Given the description of an element on the screen output the (x, y) to click on. 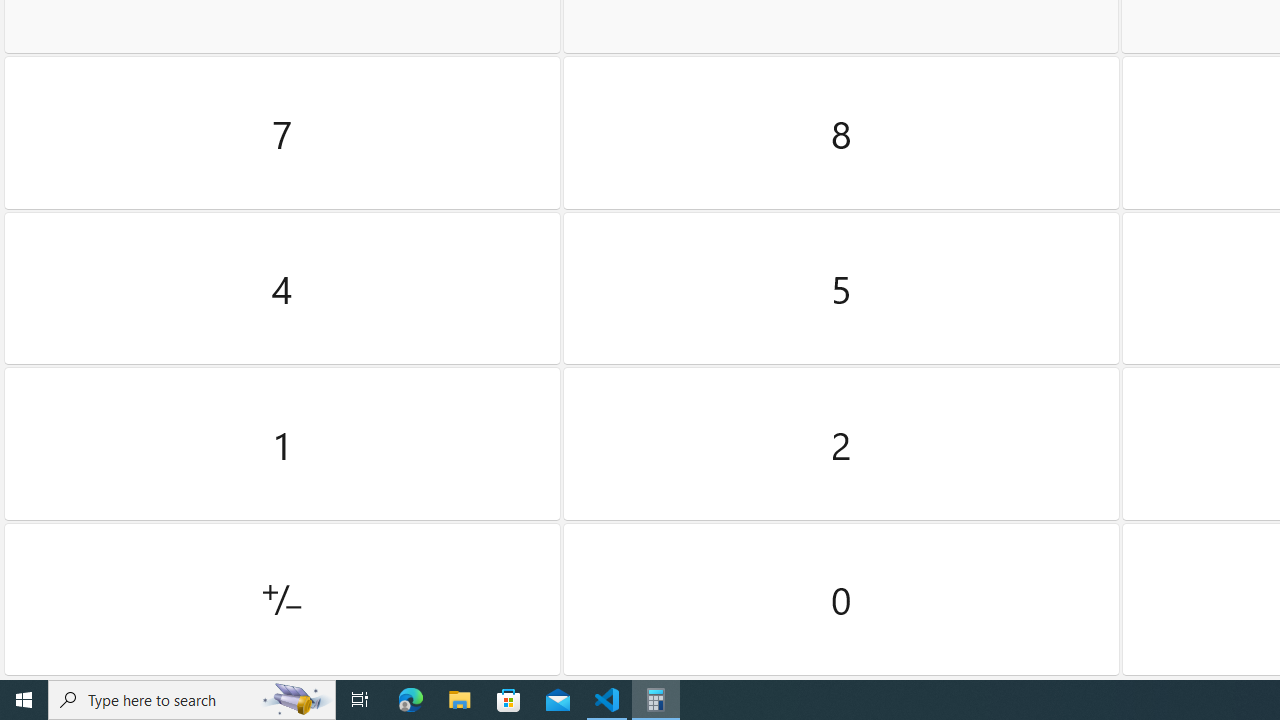
Seven (281, 133)
Task View (359, 699)
Five (841, 288)
